Given the description of an element on the screen output the (x, y) to click on. 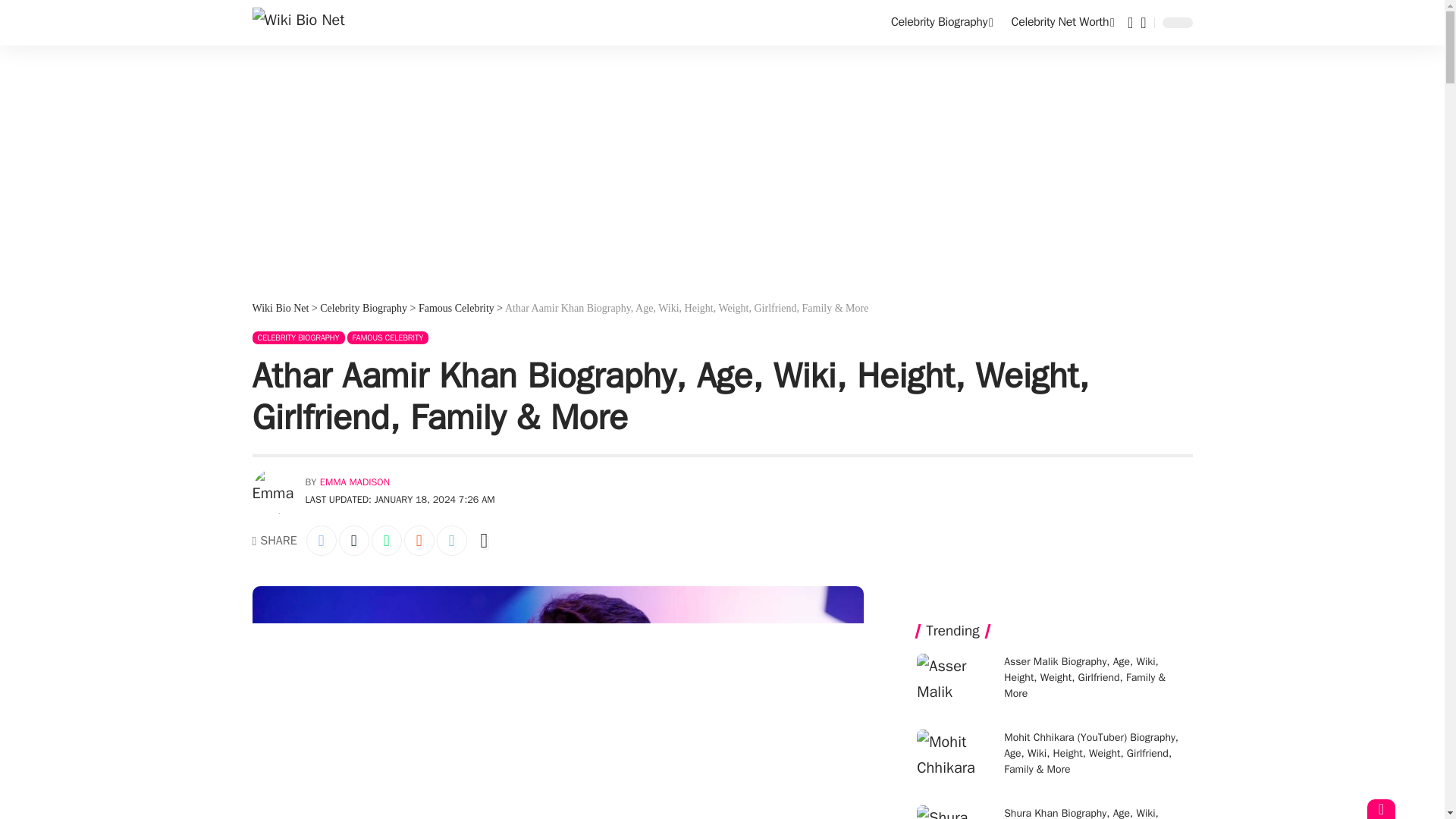
Go to Wiki Bio Net. (279, 307)
Celebrity Biography (942, 22)
Celebrity Net Worth (1063, 22)
Wiki Bio Net (297, 22)
